Given the description of an element on the screen output the (x, y) to click on. 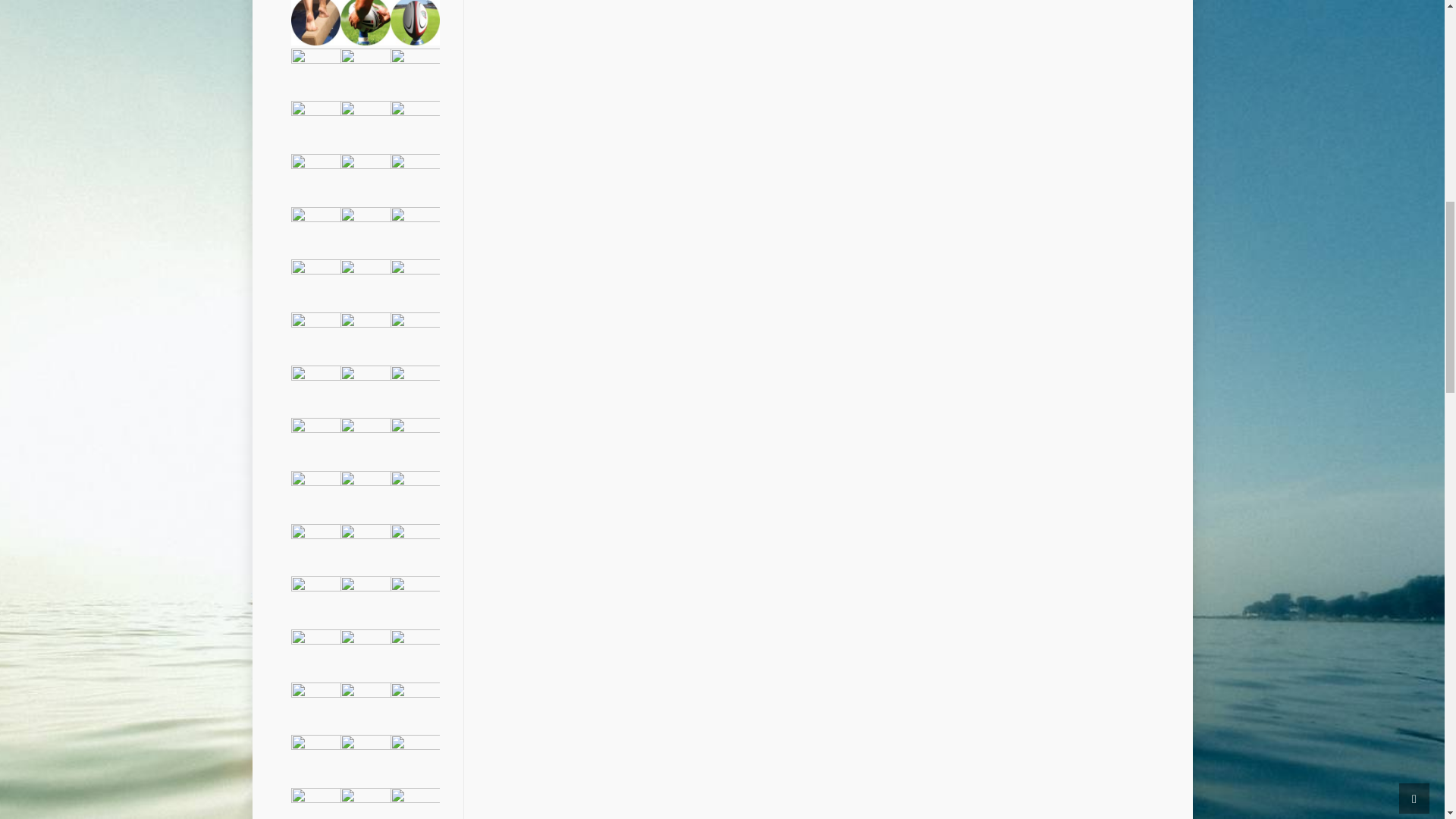
C041 (315, 124)
C132 (365, 19)
K150 (315, 230)
C121 (315, 71)
K152 (415, 177)
C141 (315, 19)
K155 (415, 124)
K149 (365, 230)
K153 (365, 177)
C101 (365, 71)
C002 (365, 124)
K154 (315, 177)
C131 (415, 19)
C051 (415, 71)
